Given the description of an element on the screen output the (x, y) to click on. 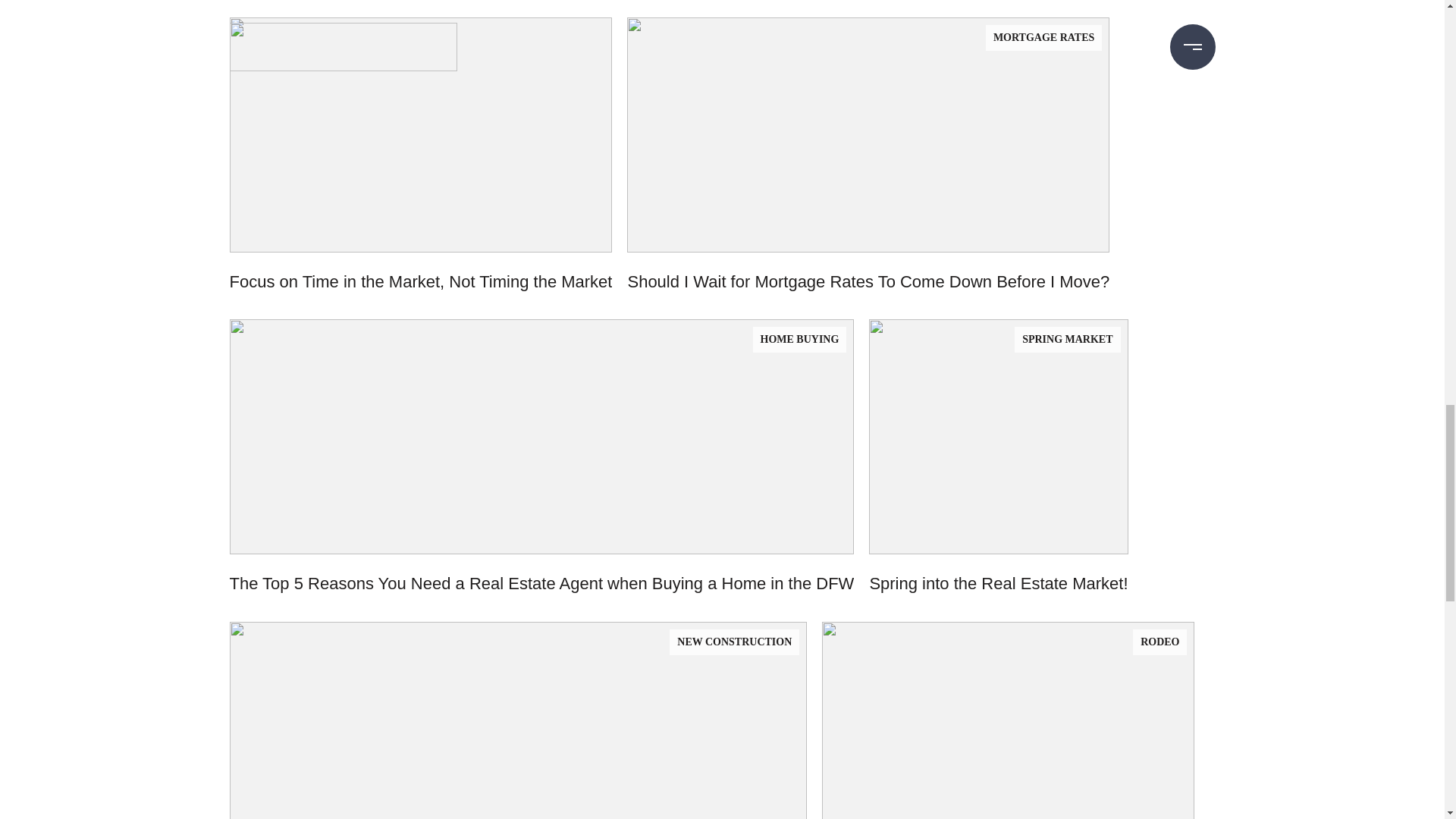
Focus on Time in the Market, Not Timing the Market (419, 168)
